Given the description of an element on the screen output the (x, y) to click on. 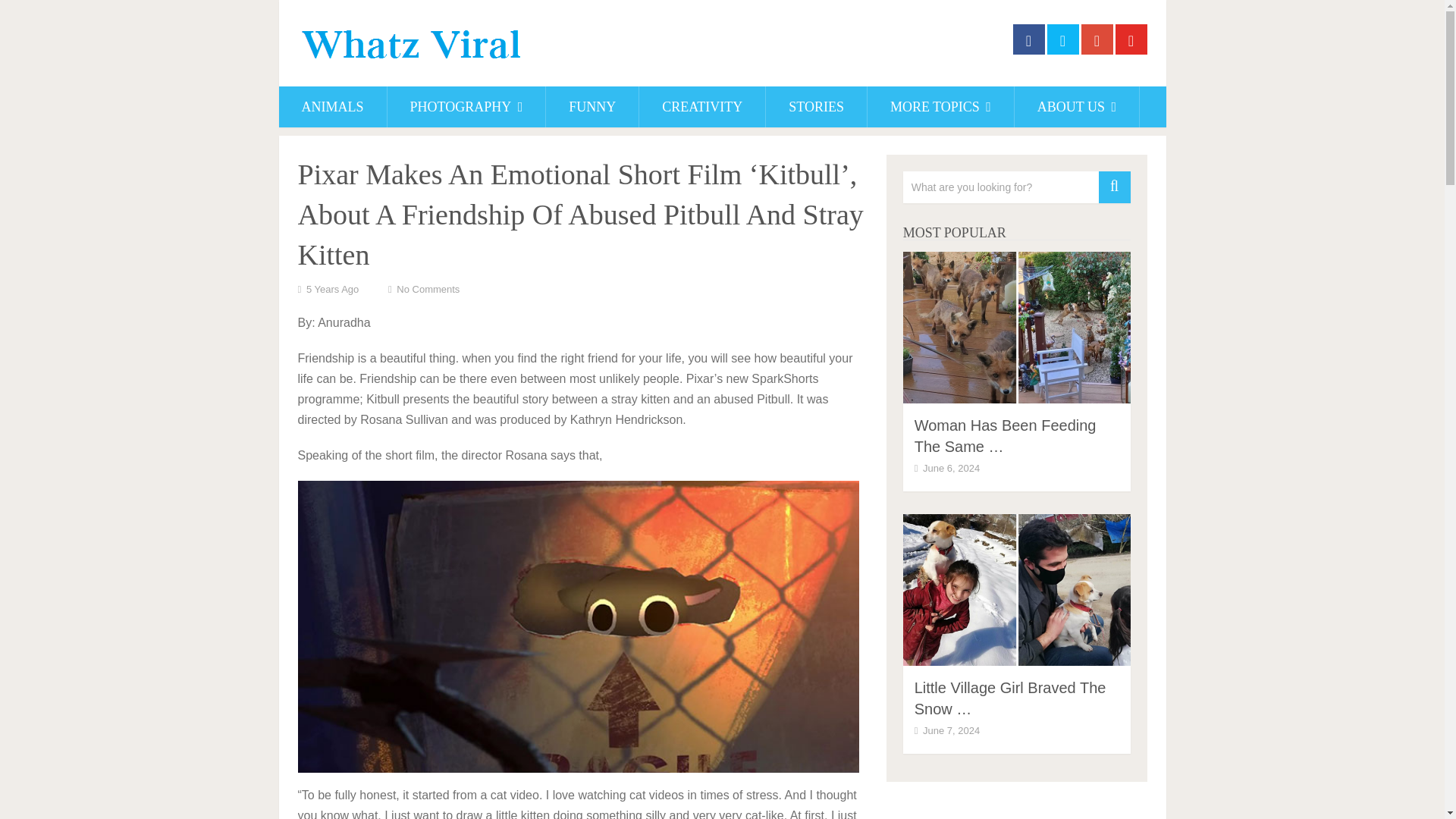
Little Village Girl Braved The Snow To Find Her Pup A Vet (1010, 698)
MORE TOPICS (940, 106)
No Comments (428, 288)
CREATIVITY (702, 106)
Little Village Girl Braved The Snow To Find Her Pup A Vet (1016, 589)
PHOTOGRAPHY (466, 106)
STORIES (815, 106)
FUNNY (592, 106)
ANIMALS (333, 106)
ABOUT US (1076, 106)
